Given the description of an element on the screen output the (x, y) to click on. 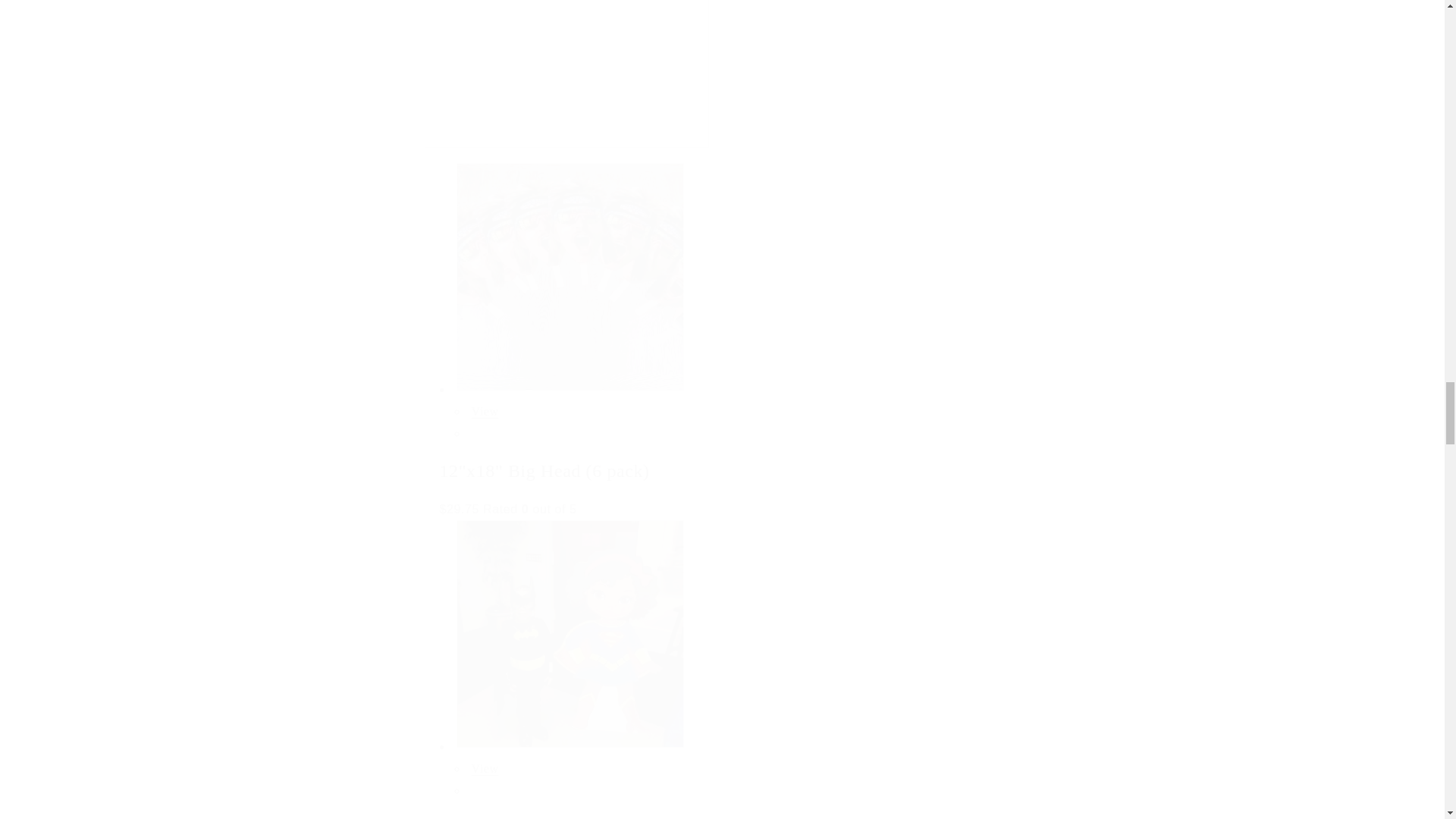
View (485, 410)
